Given the description of an element on the screen output the (x, y) to click on. 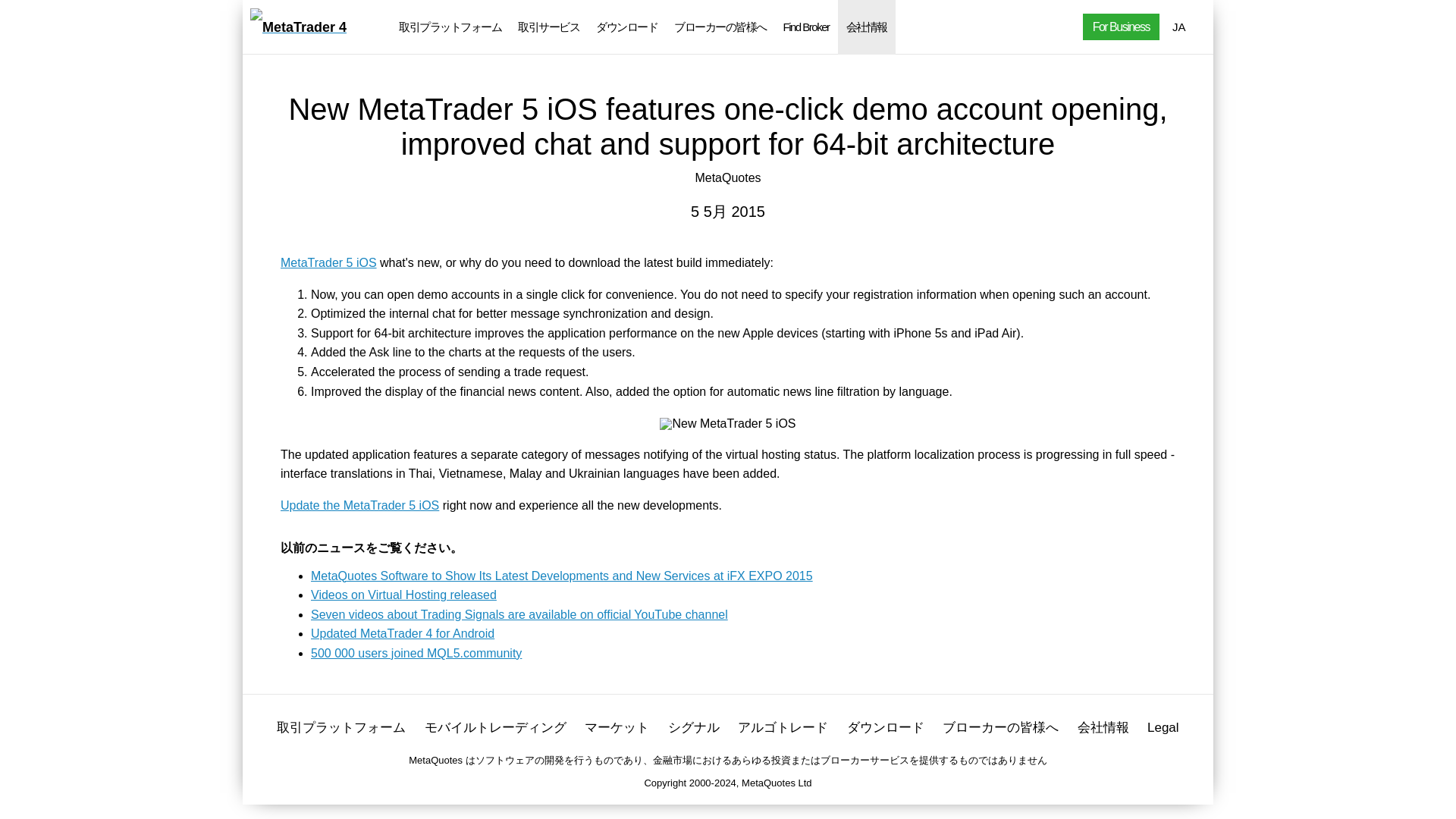
Download New MetaTrader 5 for iPhone and iPad (360, 504)
New MetaTrader 5 iOS (726, 423)
MetaTrader 4 (298, 26)
